Given the description of an element on the screen output the (x, y) to click on. 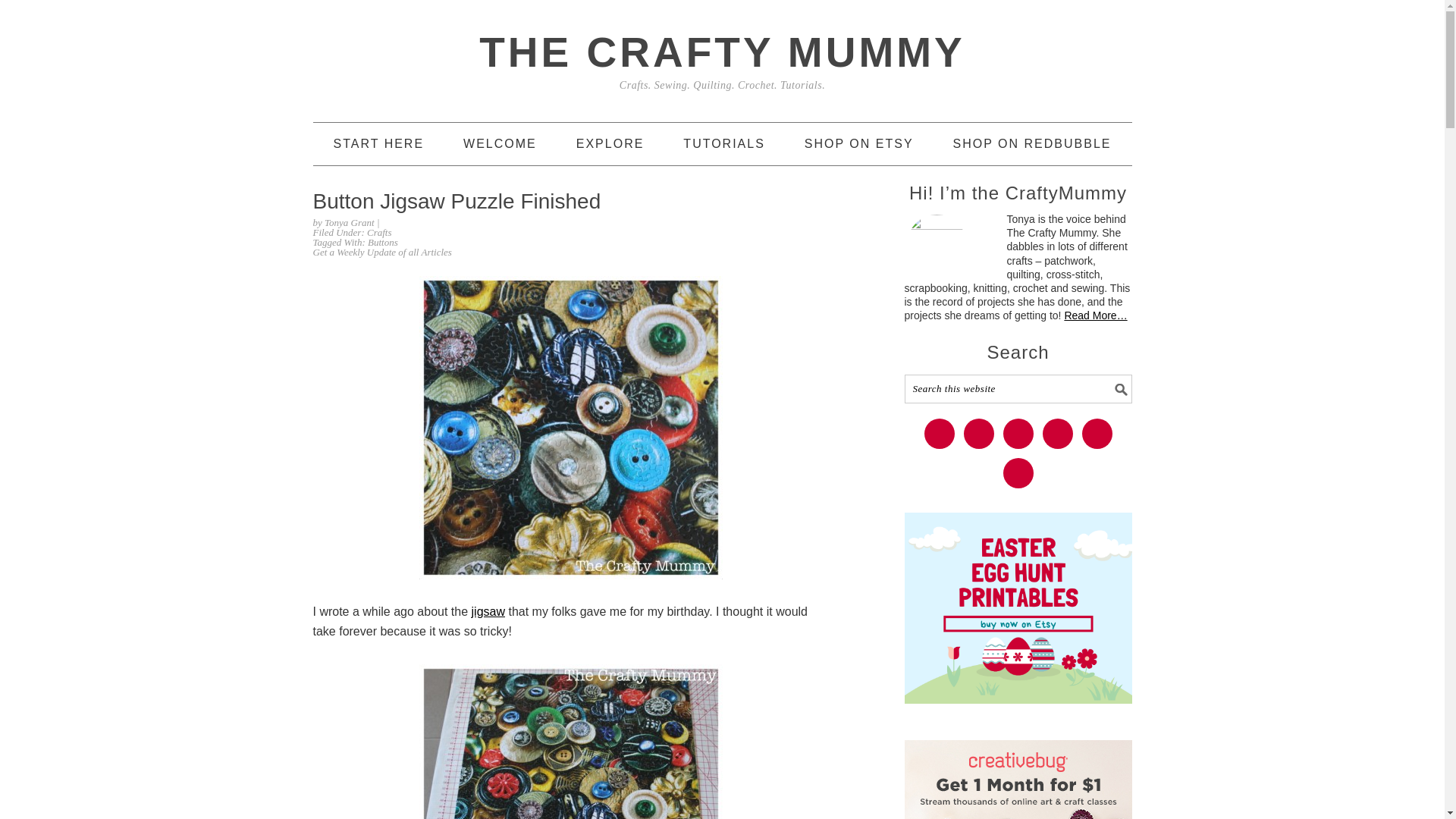
Buttons (382, 242)
Get a Weekly Update of all Articles (382, 251)
TUTORIALS (723, 143)
button jigsaw puzzle (570, 741)
THE CRAFTY MUMMY (721, 52)
Button Jigsaw Puzzle (488, 611)
SHOP ON REDBUBBLE (1032, 143)
button jigsaw puzzle-001 (570, 427)
WELCOME (500, 143)
